Given the description of an element on the screen output the (x, y) to click on. 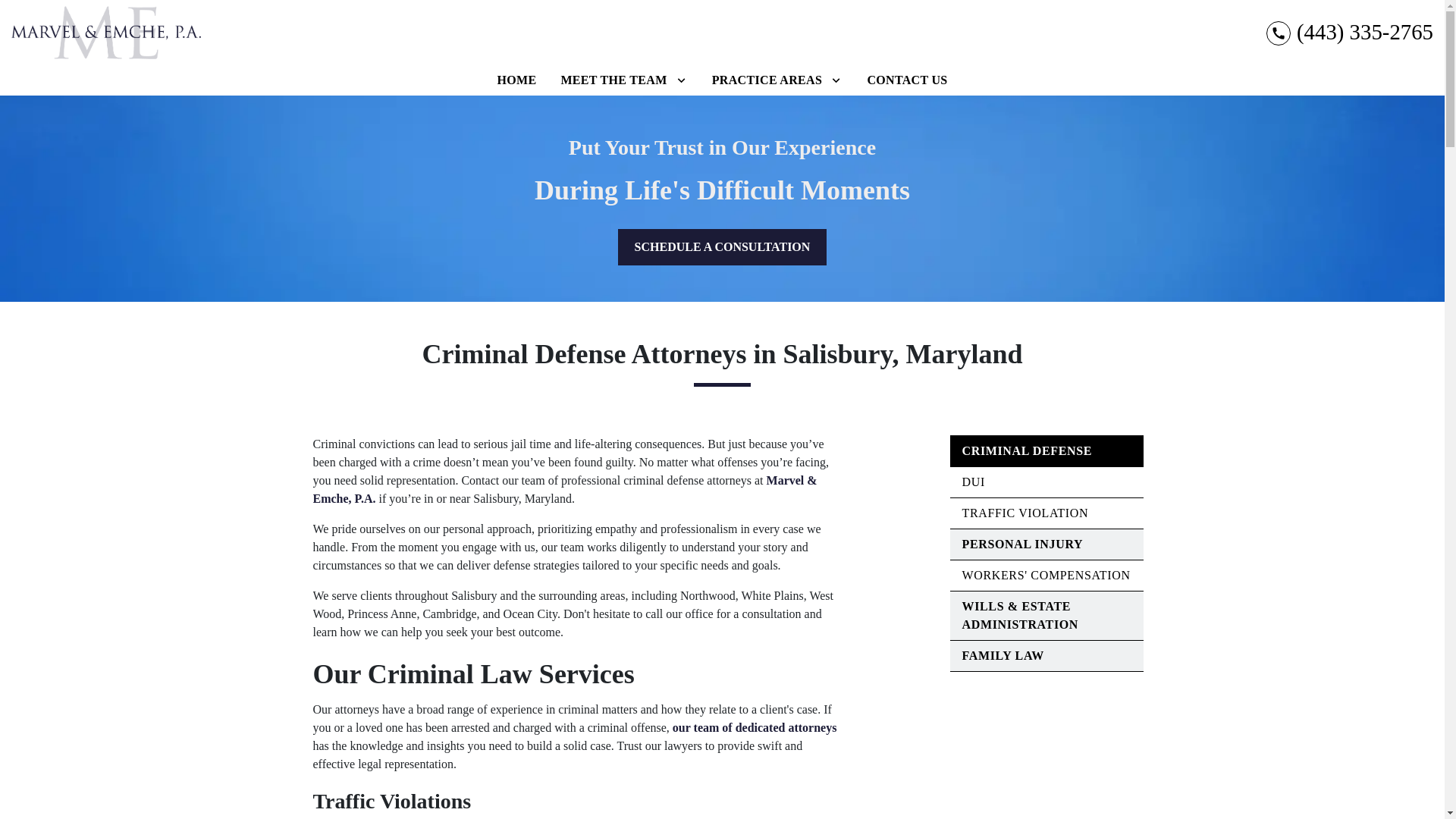
PRACTICE AREAS (767, 80)
TRAFFIC VIOLATION (1023, 512)
SCHEDULE A CONSULTATION (722, 247)
PERSONAL INJURY (1021, 543)
MEET THE TEAM (613, 80)
FAMILY LAW (1001, 655)
HOME (515, 80)
CRIMINAL DEFENSE (1026, 450)
CONTACT US (906, 80)
DUI (972, 481)
our team of dedicated attorneys (754, 727)
WORKERS' COMPENSATION (1044, 574)
